Given the description of an element on the screen output the (x, y) to click on. 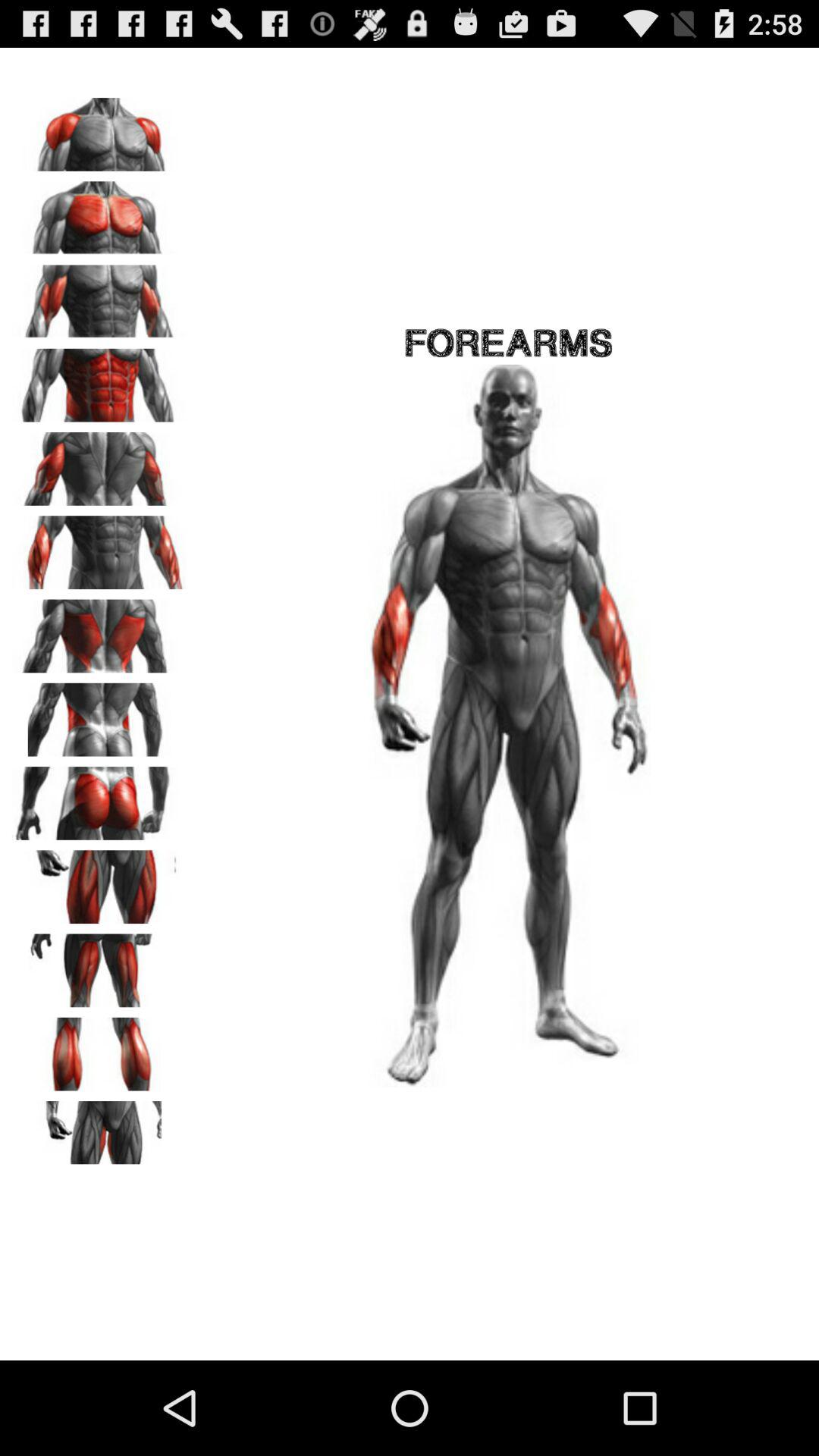
select shoulder muscles (99, 129)
